Given the description of an element on the screen output the (x, y) to click on. 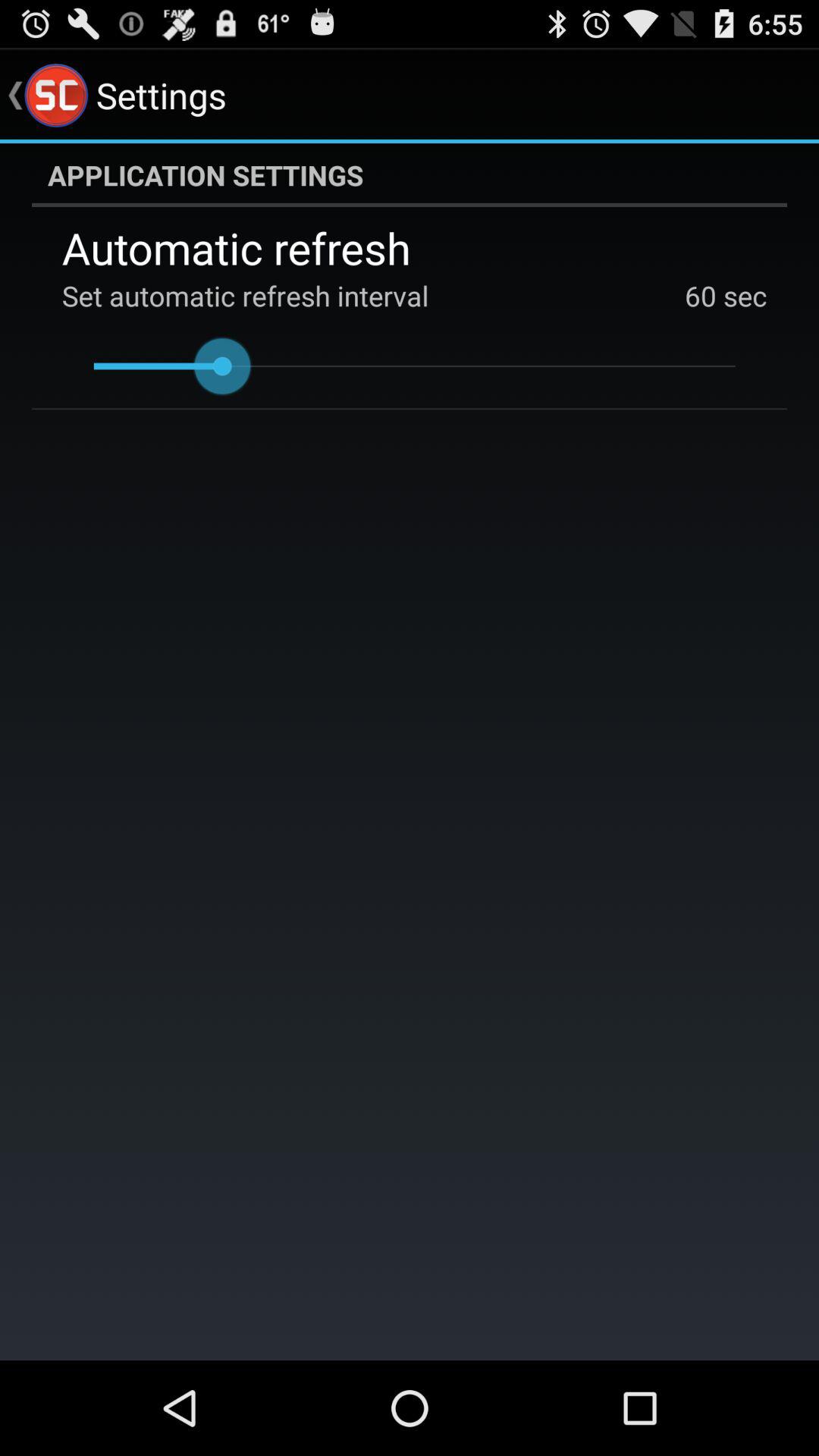
open app to the right of 60 app (741, 295)
